Given the description of an element on the screen output the (x, y) to click on. 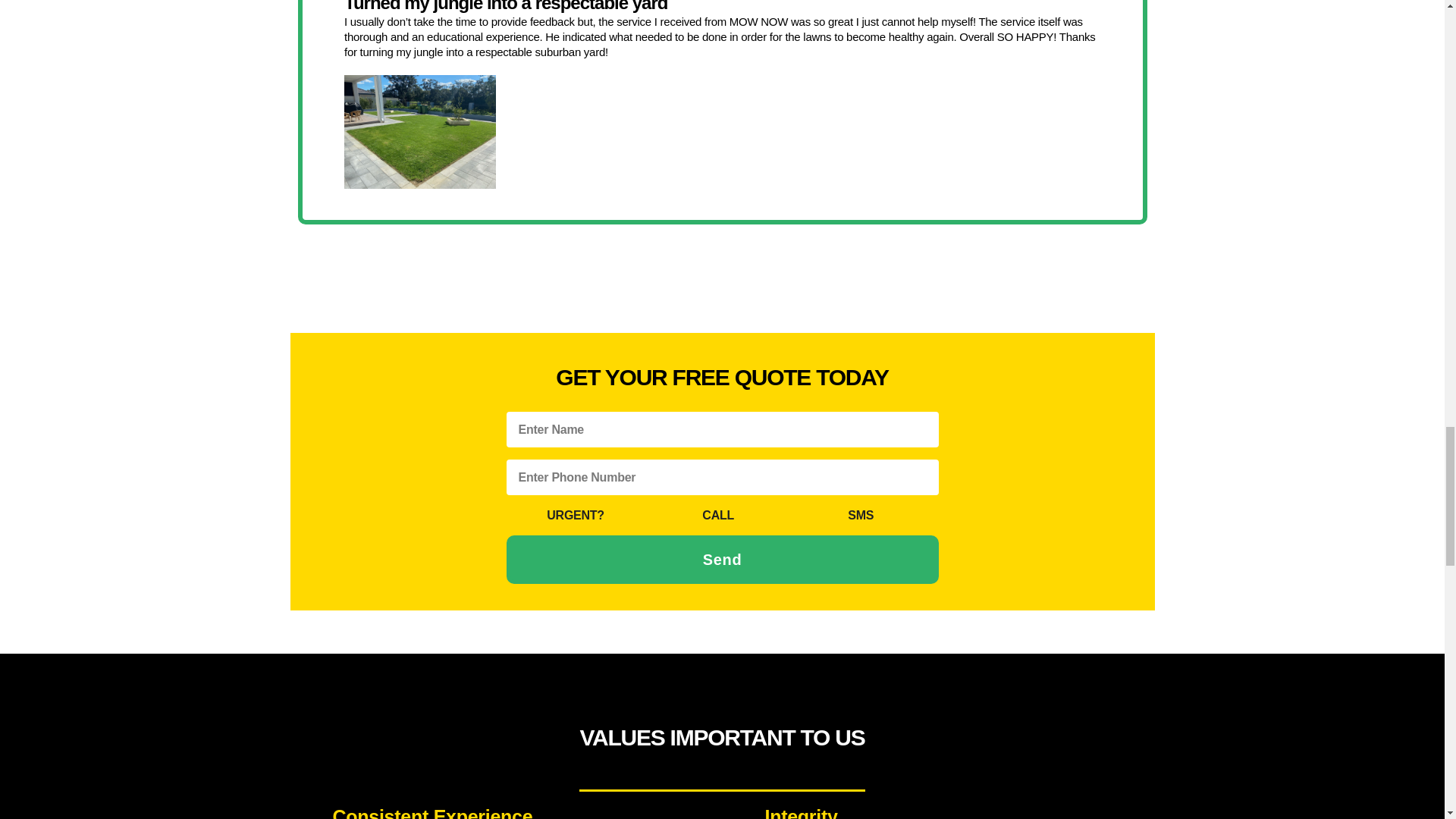
Send (722, 559)
